Given the description of an element on the screen output the (x, y) to click on. 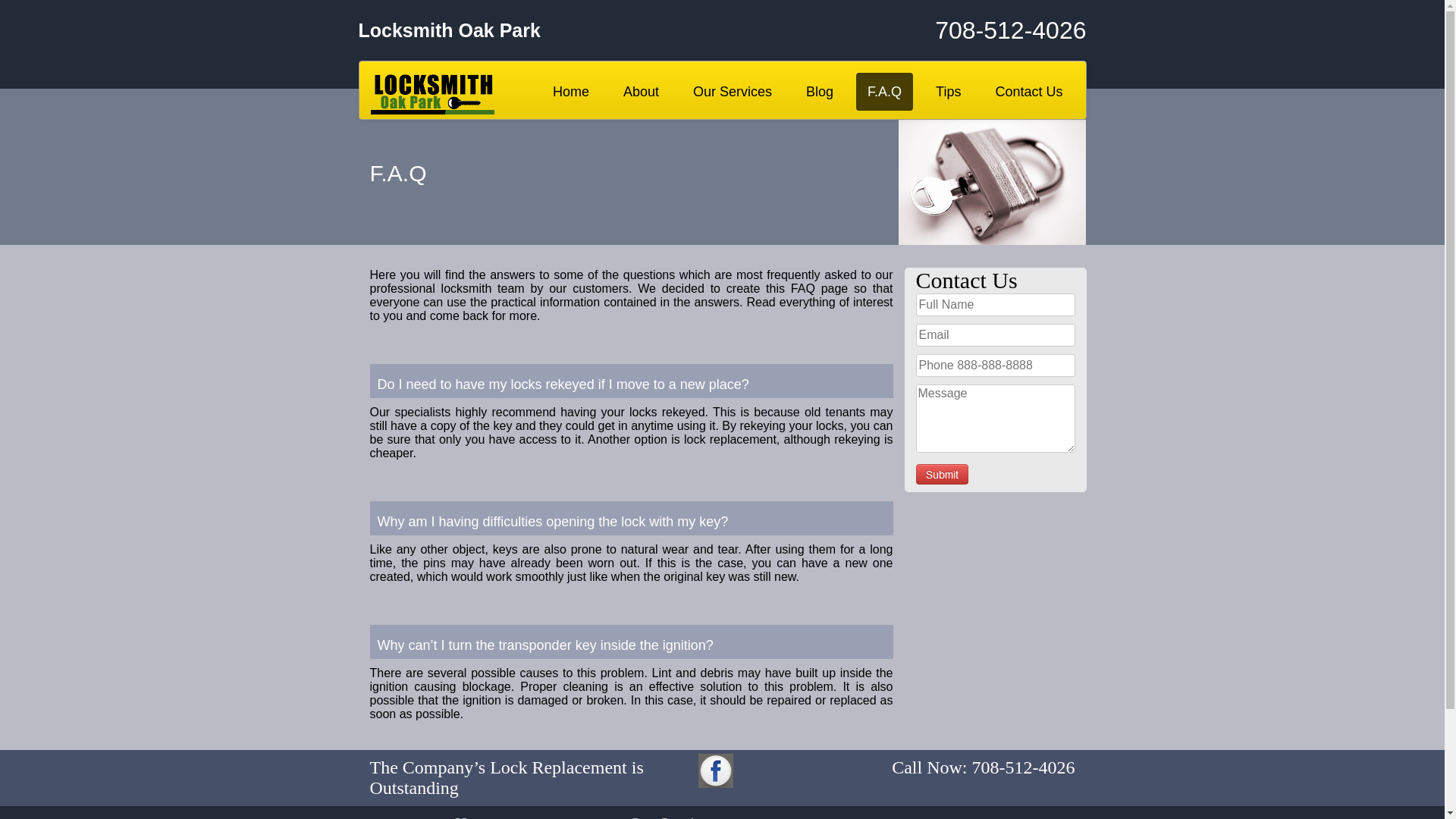
Blog Element type: text (819, 91)
708-512-4026 Element type: text (964, 30)
Tips Element type: text (948, 91)
Contact Us Element type: text (1028, 91)
F.A.Q Element type: text (884, 91)
About Element type: text (640, 91)
Home Element type: text (570, 91)
  Element type: text (942, 474)
Our Services Element type: text (732, 91)
